Given the description of an element on the screen output the (x, y) to click on. 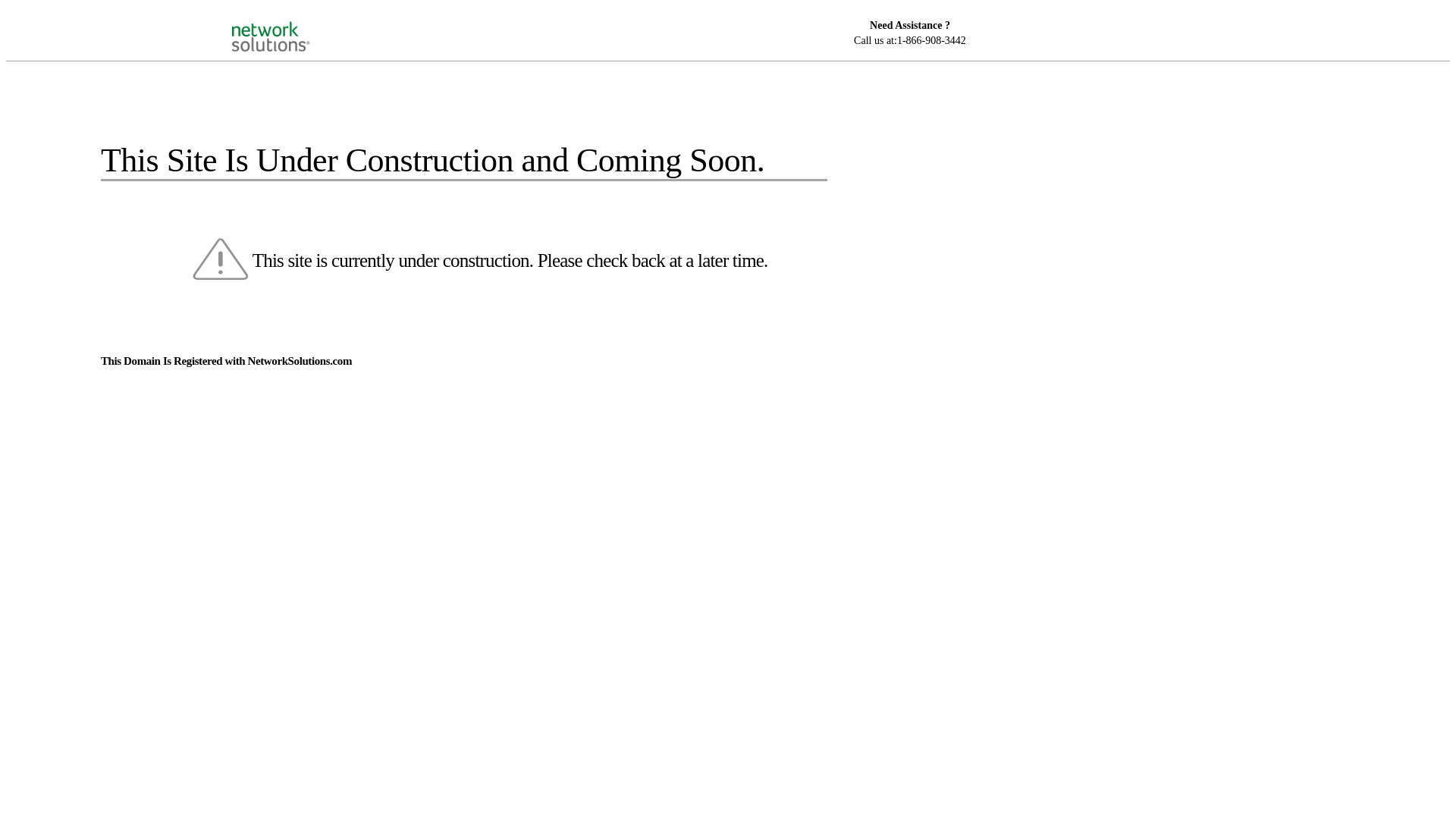
NetworkSolutions.com Home Element type: hover (289, 23)
